Given the description of an element on the screen output the (x, y) to click on. 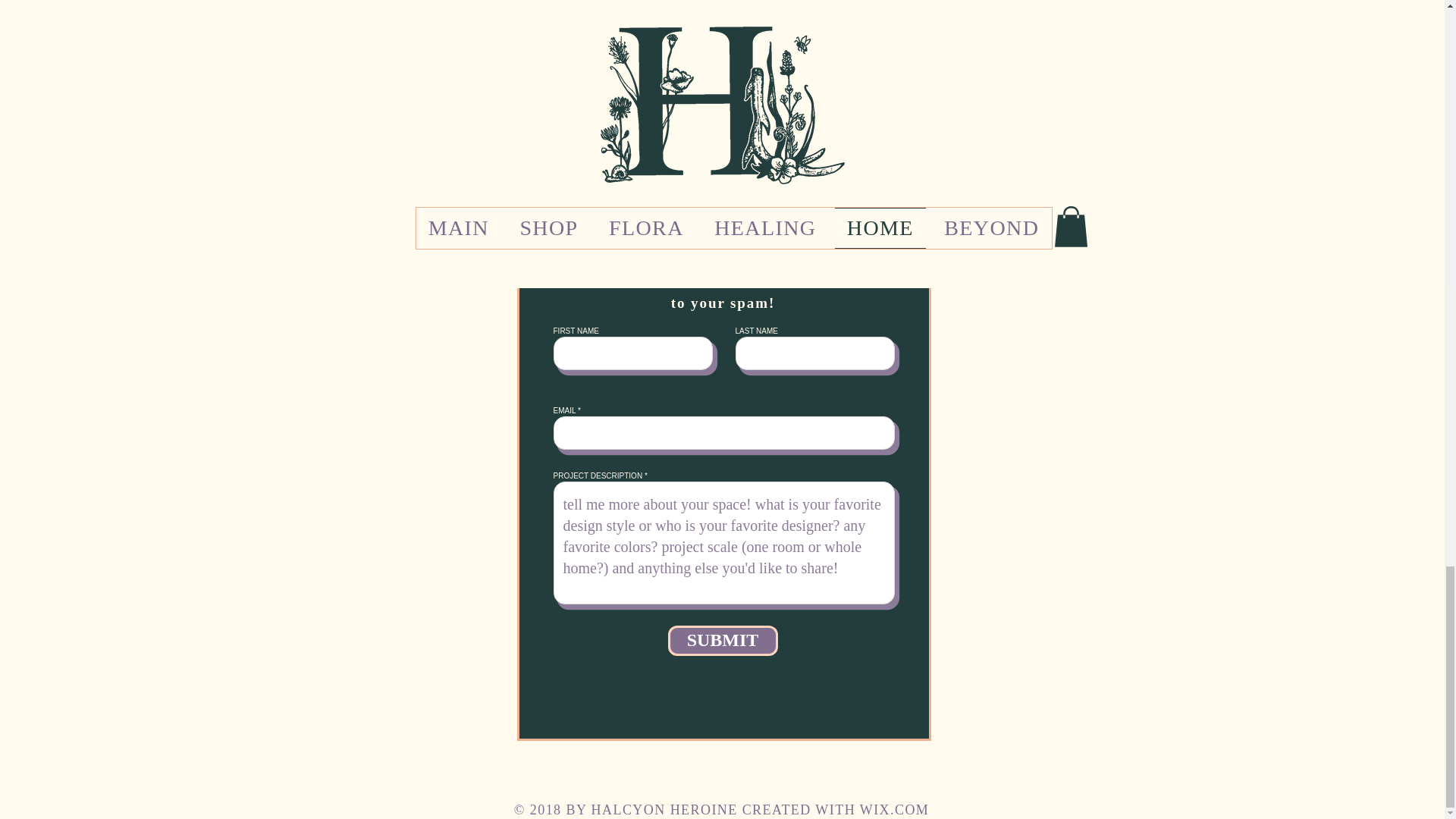
SUBMIT (721, 640)
